Given the description of an element on the screen output the (x, y) to click on. 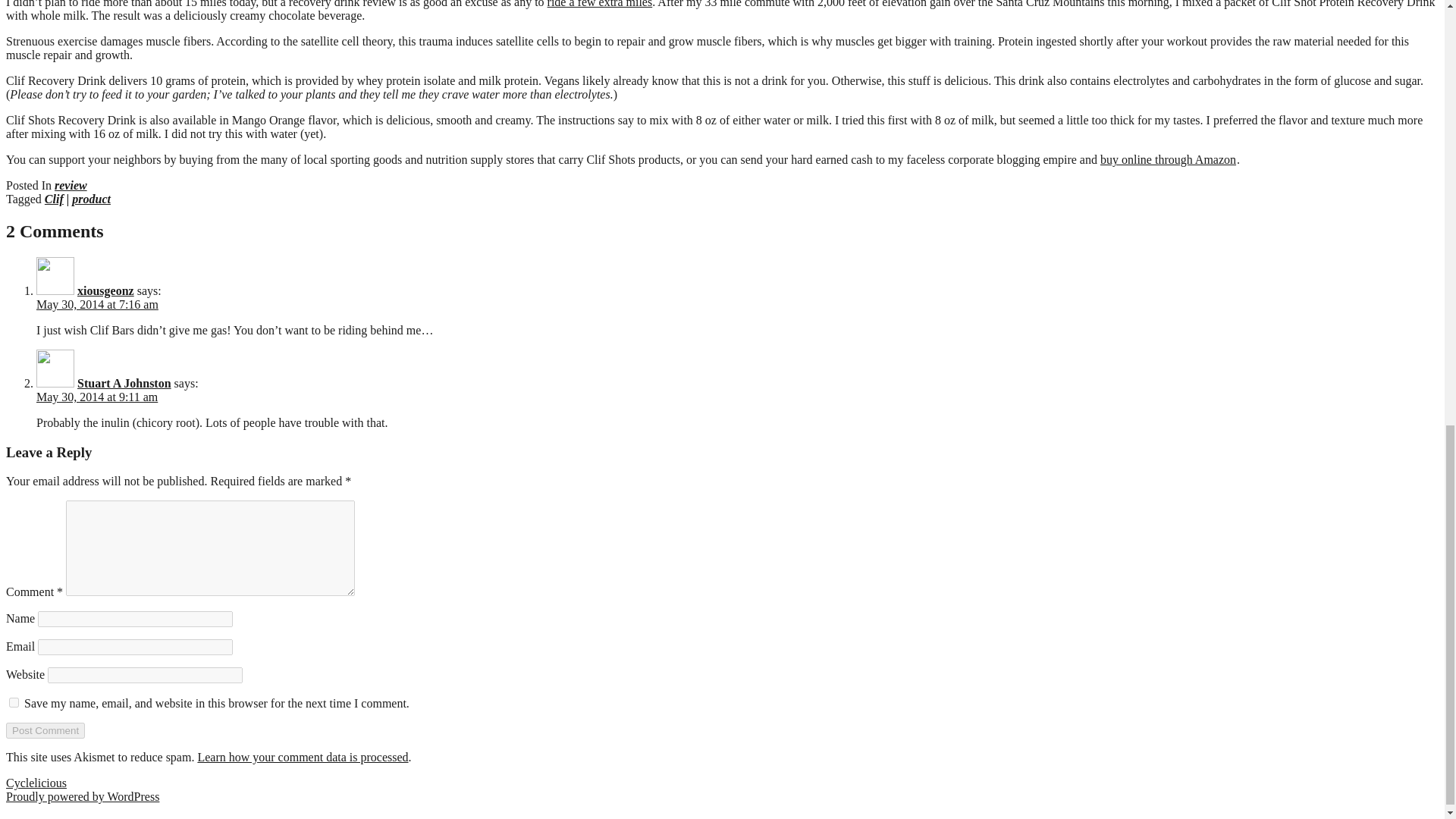
buy online through Amazon (1168, 159)
Proudly powered by WordPress (81, 796)
Post Comment (44, 730)
Post Comment (44, 730)
May 30, 2014 at 9:11 am (96, 396)
Learn how your comment data is processed (301, 757)
Clif (54, 198)
Stuart A Johnston (124, 382)
ride a few extra miles (599, 4)
review (71, 185)
yes (13, 702)
product (90, 198)
xiousgeonz (105, 290)
May 30, 2014 at 7:16 am (97, 304)
Cyclelicious (35, 782)
